Given the description of an element on the screen output the (x, y) to click on. 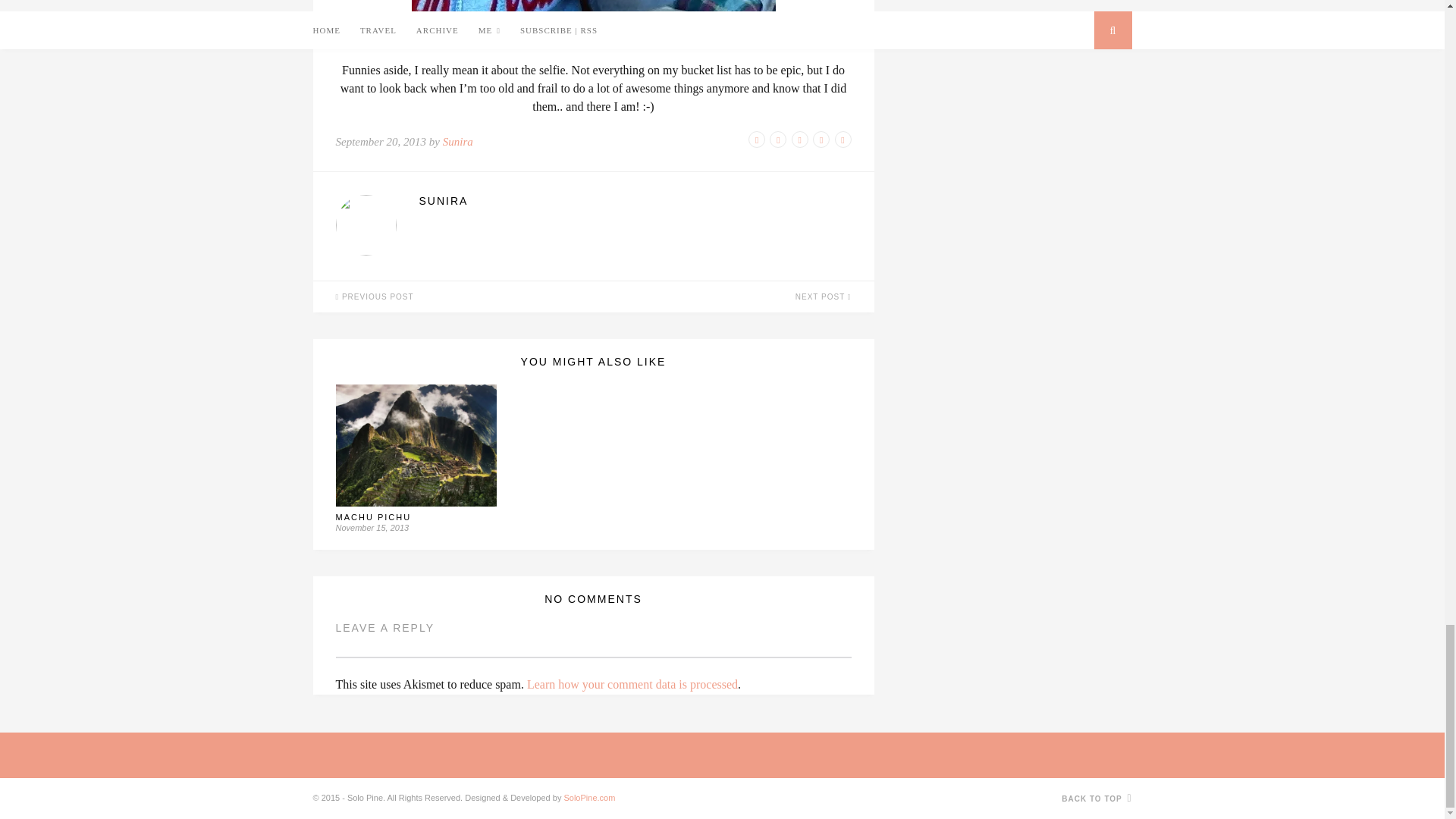
Sunira (457, 141)
NEXT POST (732, 296)
SUNIRA (634, 200)
Posts by Sunira (634, 200)
Posts by Sunira (457, 141)
PREVIOUS POST (452, 296)
MACHU PICHU (372, 516)
